Given the description of an element on the screen output the (x, y) to click on. 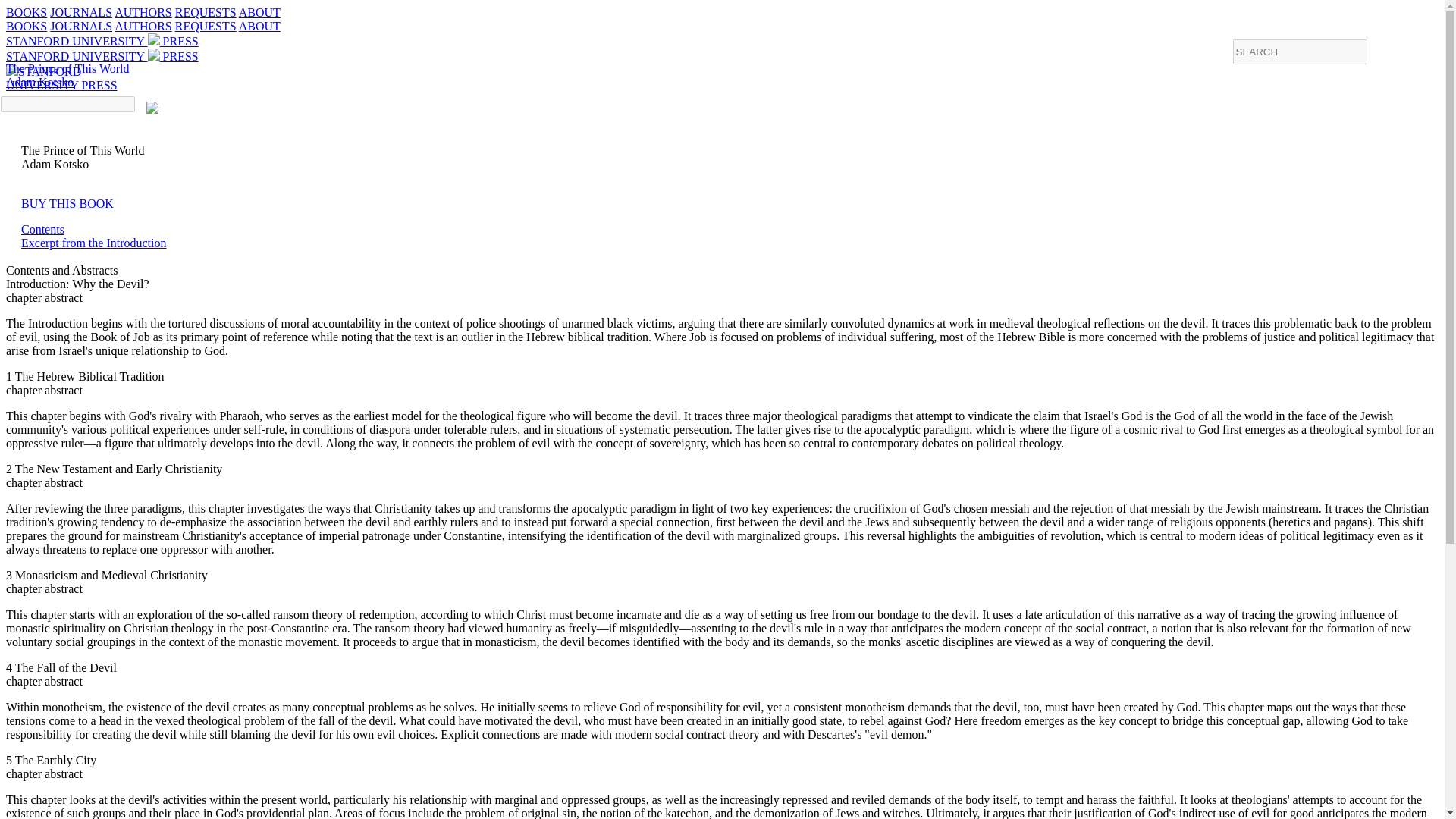
JOURNALS (80, 11)
AUTHORS (143, 11)
AUTHORS (143, 25)
ABOUT (259, 25)
BOOKS (25, 25)
STANFORD UNIVERSITY PRESS (101, 41)
BUY THIS BOOK (67, 203)
ABOUT (259, 11)
STANFORD UNIVERSITY PRESS (101, 56)
BOOKS (25, 11)
